Given the description of an element on the screen output the (x, y) to click on. 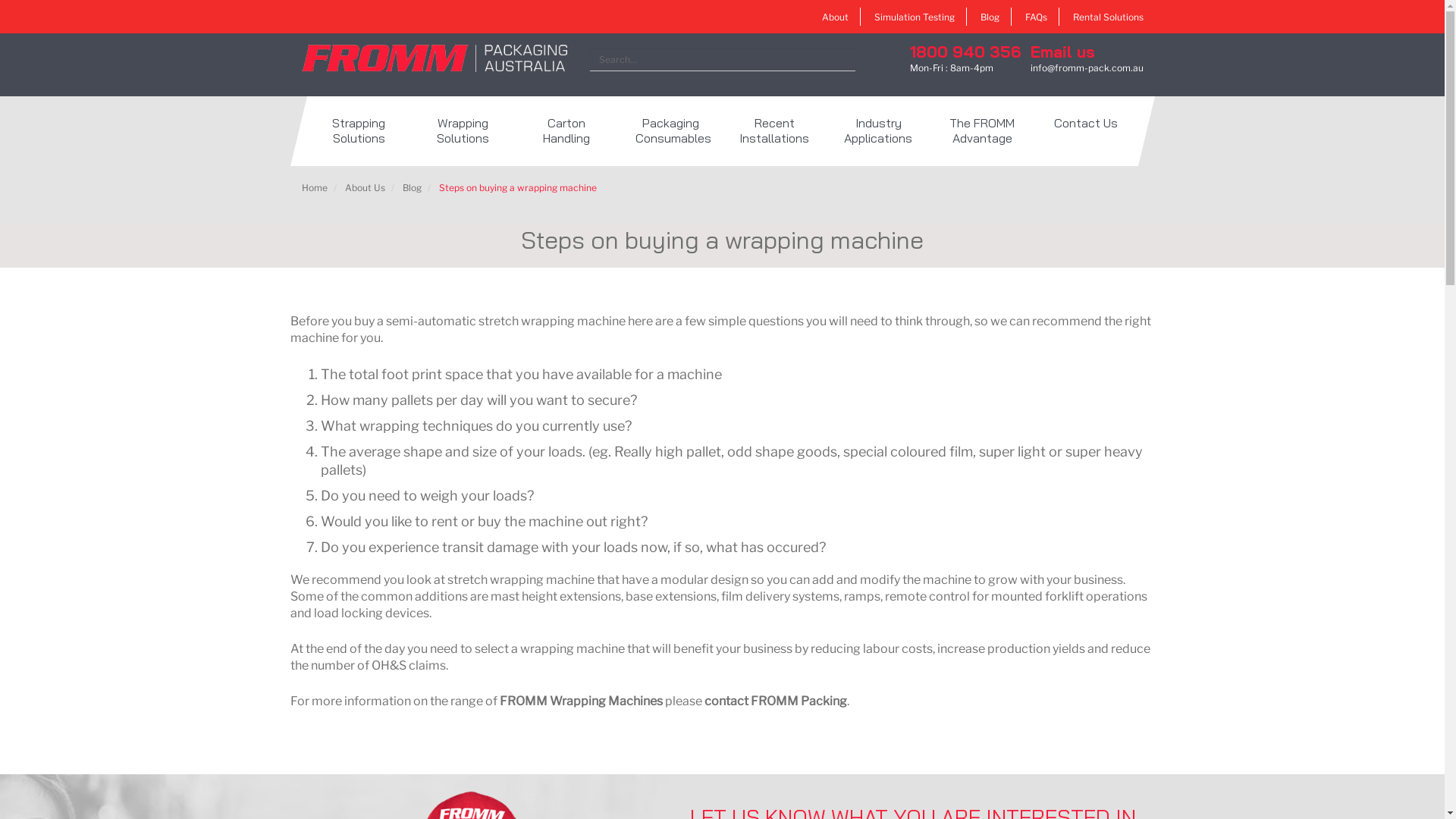
Simulation Testing Element type: text (913, 16)
The FROMM Advantage Element type: text (981, 131)
Rental Solutions Element type: text (1107, 16)
FAQs Element type: text (1036, 16)
Packaging Consumables Element type: text (670, 131)
Strapping Solutions Element type: text (357, 131)
info@fromm-pack.com.au Element type: text (1085, 67)
FROMM Wrapping Machines Element type: text (580, 700)
Industry Applications Element type: text (878, 131)
Recent Installations Element type: text (773, 131)
Blog Element type: text (988, 16)
About Us Element type: text (364, 187)
Home Element type: text (314, 187)
About Element type: text (835, 16)
Blog Element type: text (410, 187)
1800 940 356 Element type: text (965, 51)
Wrapping Solutions Element type: text (462, 131)
contact FROMM Packing Element type: text (774, 700)
Contact Us Element type: text (1085, 131)
Carton Handling Element type: text (565, 131)
Email us Element type: text (1061, 51)
